Given the description of an element on the screen output the (x, y) to click on. 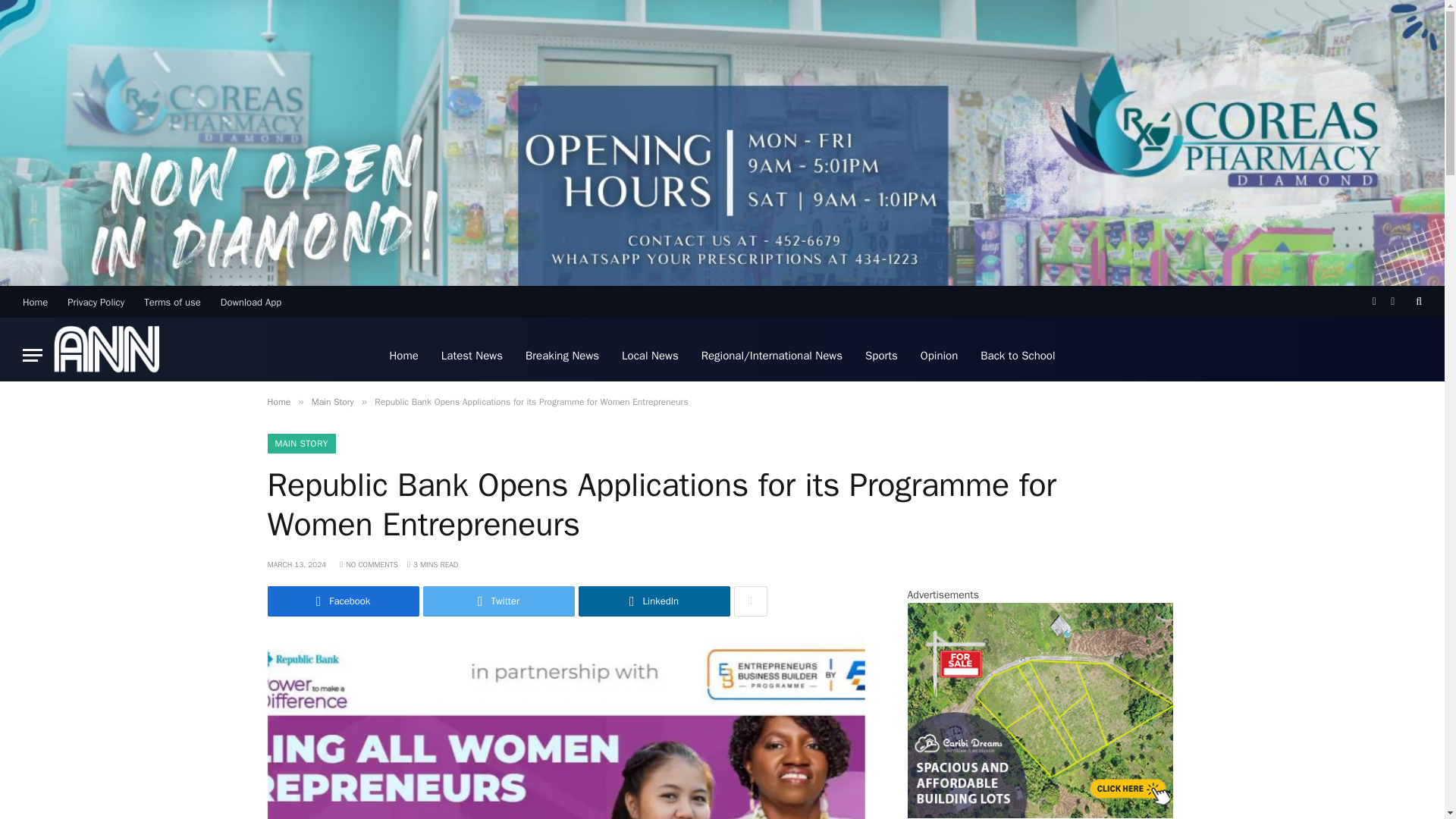
Twitter (499, 601)
Download App (251, 301)
Show More Social Sharing (750, 601)
Local News (650, 355)
Share on LinkedIn (653, 601)
Main Story (332, 401)
NO COMMENTS (368, 564)
Breaking News (561, 355)
Share on Facebook (342, 601)
Asberth News Network (105, 355)
Terms of use (172, 301)
Latest News (471, 355)
Privacy Policy (95, 301)
Facebook (342, 601)
LinkedIn (653, 601)
